Given the description of an element on the screen output the (x, y) to click on. 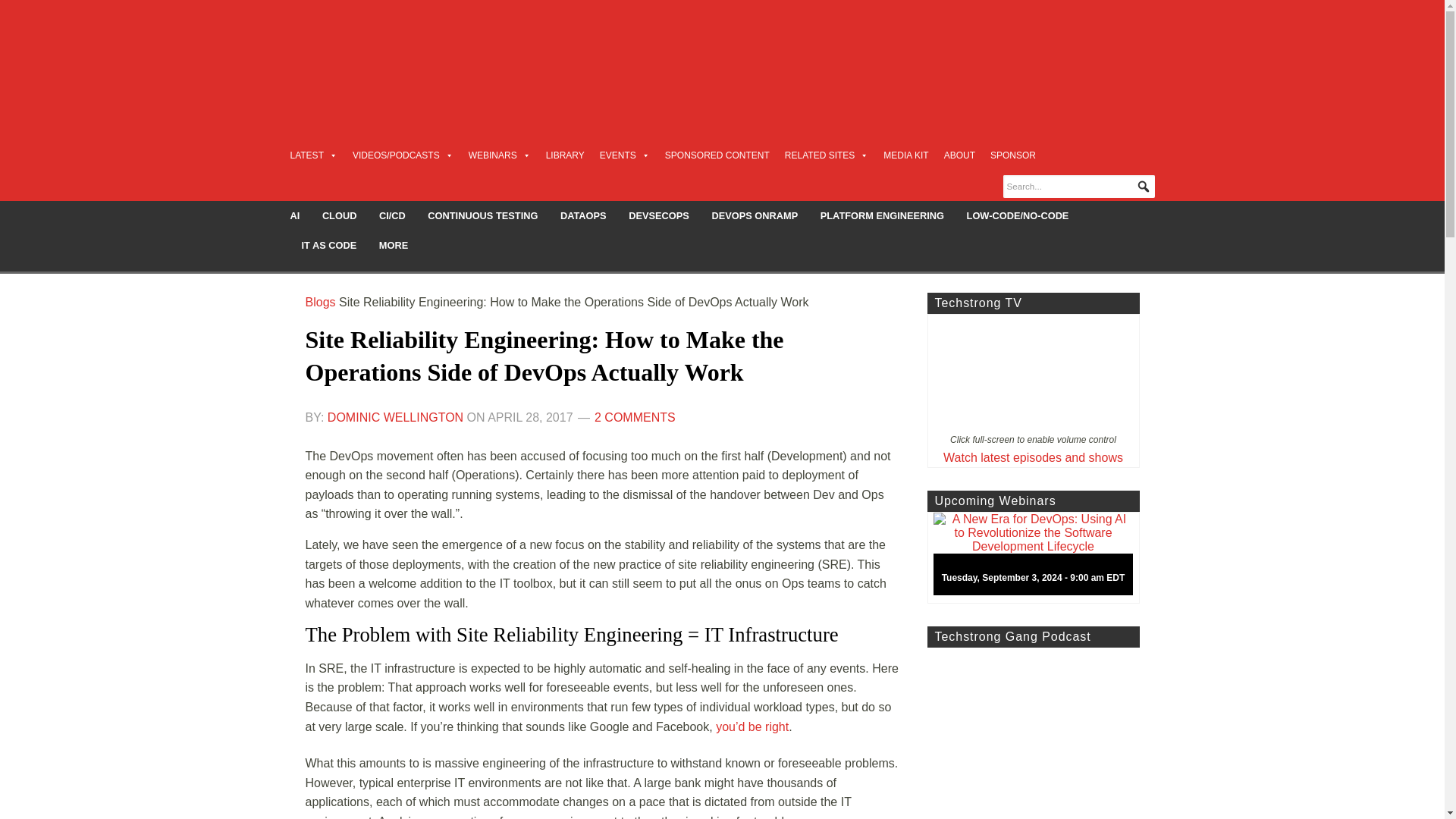
WEBINARS (499, 155)
Tuesday, September 3, 2024 - 9:00 am EDT (1038, 557)
EVENTS (624, 155)
DEVOPS.COM (414, 56)
LIBRARY (565, 155)
SPONSORED CONTENT (717, 155)
RELATED SITES (825, 155)
Techstrong Gang (1032, 733)
LATEST (312, 155)
